Given the description of an element on the screen output the (x, y) to click on. 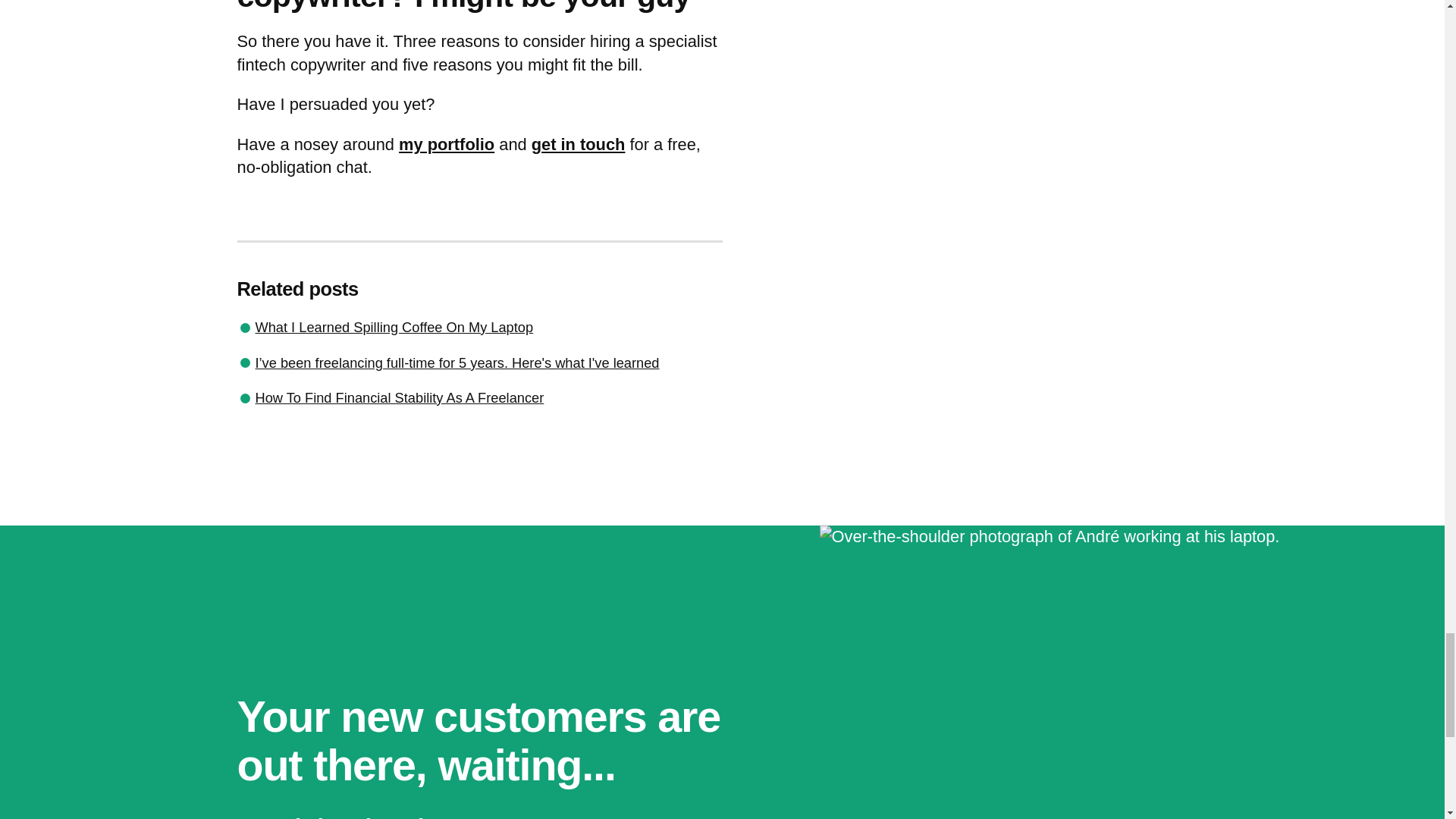
get in touch (578, 144)
What I Learned Spilling Coffee On My Laptop (393, 326)
How To Find Financial Stability As A Freelancer (398, 397)
my portfolio (446, 144)
